Given the description of an element on the screen output the (x, y) to click on. 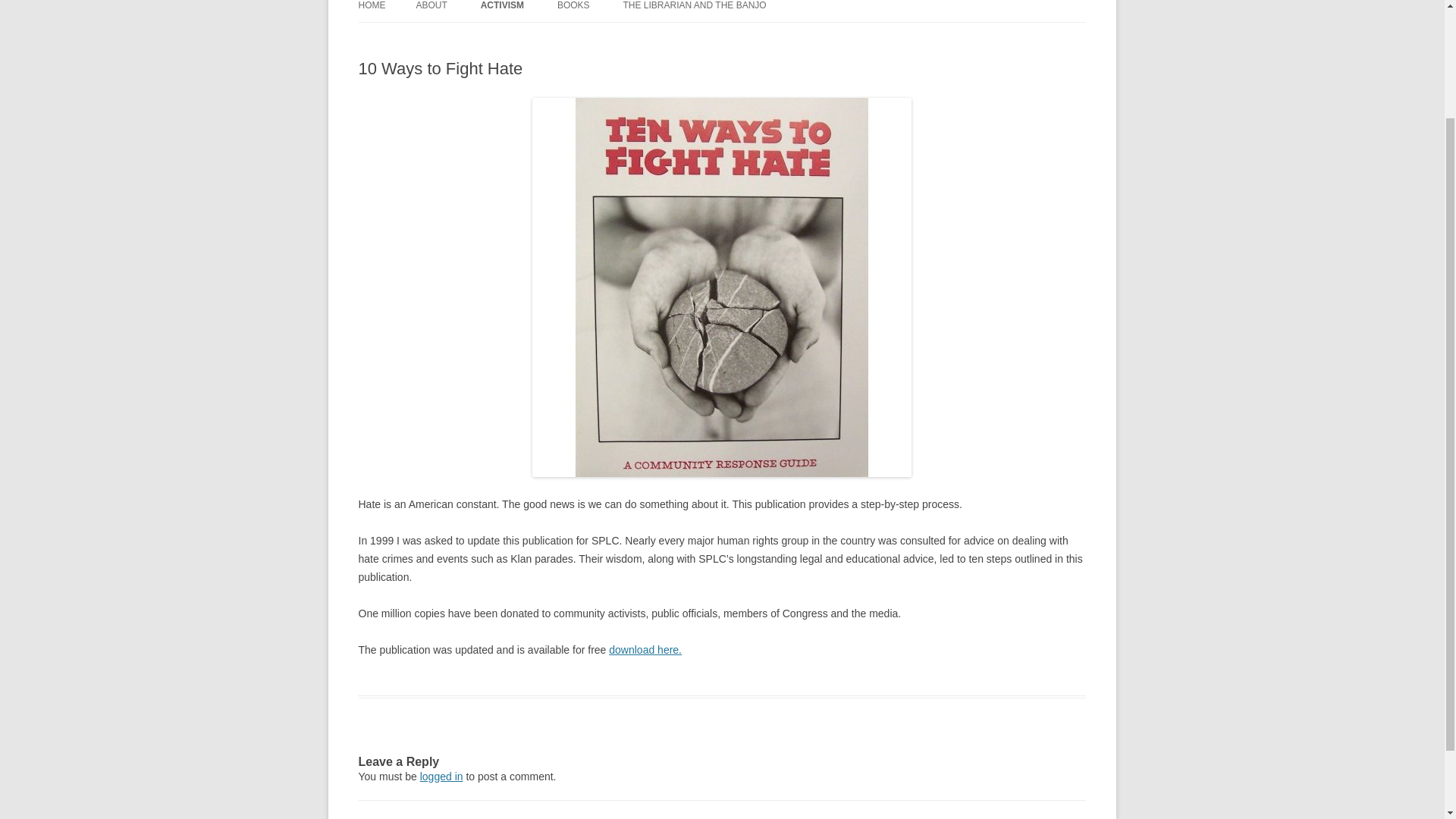
RIVER FOOD PANTRY (555, 37)
HOME (371, 11)
logged in (441, 776)
CONTACT (490, 37)
ACTIVISM (502, 11)
ABOUT (430, 11)
BOOKS (573, 11)
THE LIBRARIAN AND THE BANJO (694, 11)
download here. (644, 649)
